Given the description of an element on the screen output the (x, y) to click on. 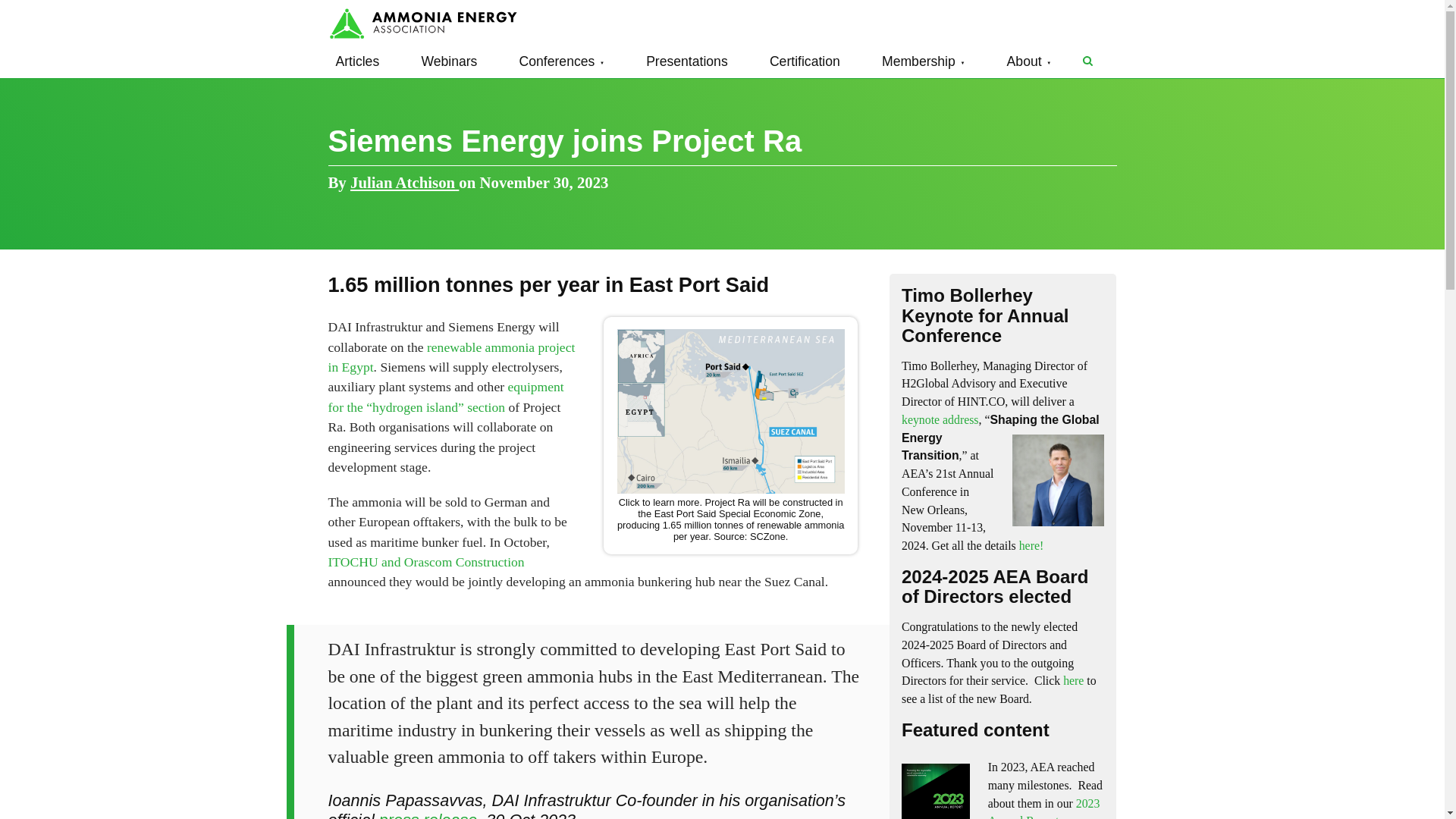
Membership (923, 60)
Articles (357, 60)
Presentations (687, 60)
Search (1088, 61)
press release (427, 814)
About (1028, 60)
Webinars (448, 60)
renewable ammonia project in Egypt (451, 356)
Julian Atchison (404, 181)
Conferences (561, 60)
